Given the description of an element on the screen output the (x, y) to click on. 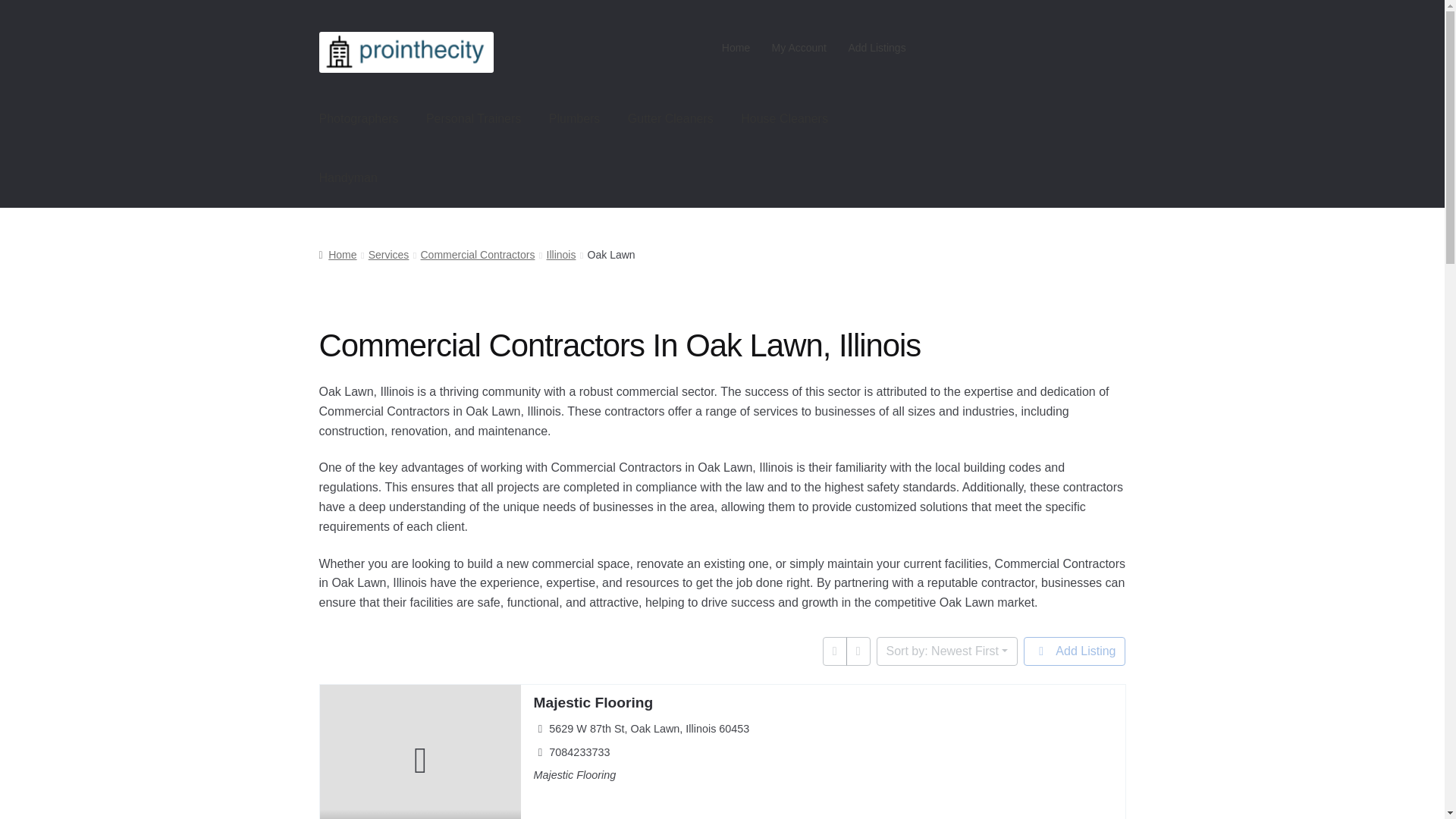
Services (388, 254)
My Account (798, 47)
Home (337, 254)
House Cleaners (784, 118)
Home (736, 47)
Commercial Contractors (477, 254)
Photographers (358, 118)
Plumbers (574, 118)
Personal Trainers (472, 118)
Add Listing (1074, 651)
Sort by: Newest First (946, 651)
Add Listings (876, 47)
Bookmark (331, 813)
Gutter Cleaners (670, 118)
